Given the description of an element on the screen output the (x, y) to click on. 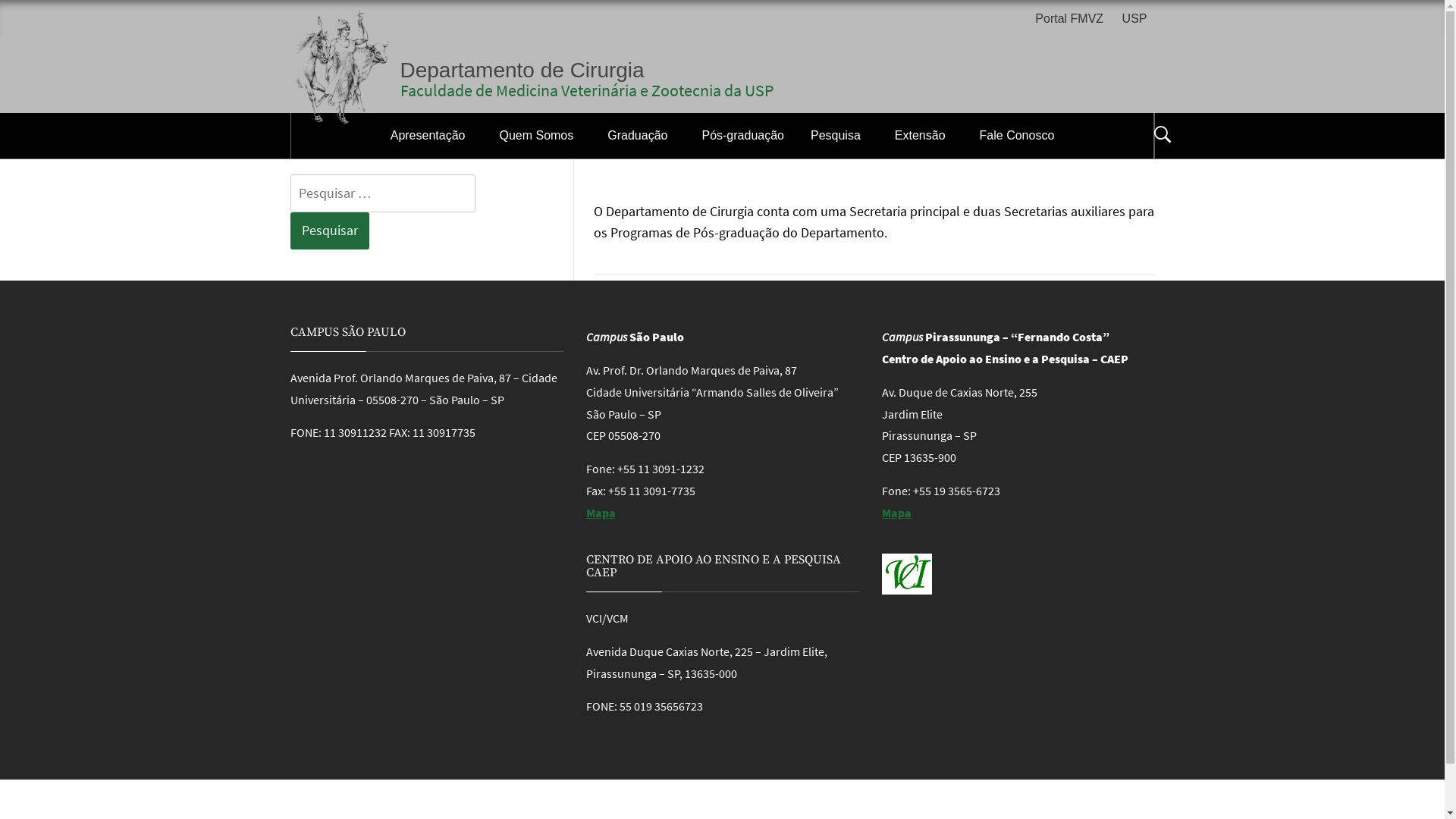
Quem Somos Element type: text (539, 135)
USP Element type: text (1134, 19)
Pesquisar Element type: text (797, 33)
Portal FMVZ Element type: text (1072, 19)
Departamento de Cirurgia Element type: text (522, 69)
Mapa Element type: text (895, 512)
Pesquisar Element type: text (328, 230)
Pesquisa Element type: text (839, 135)
Mapa Element type: text (600, 512)
Fale Conosco Element type: text (1017, 135)
